Given the description of an element on the screen output the (x, y) to click on. 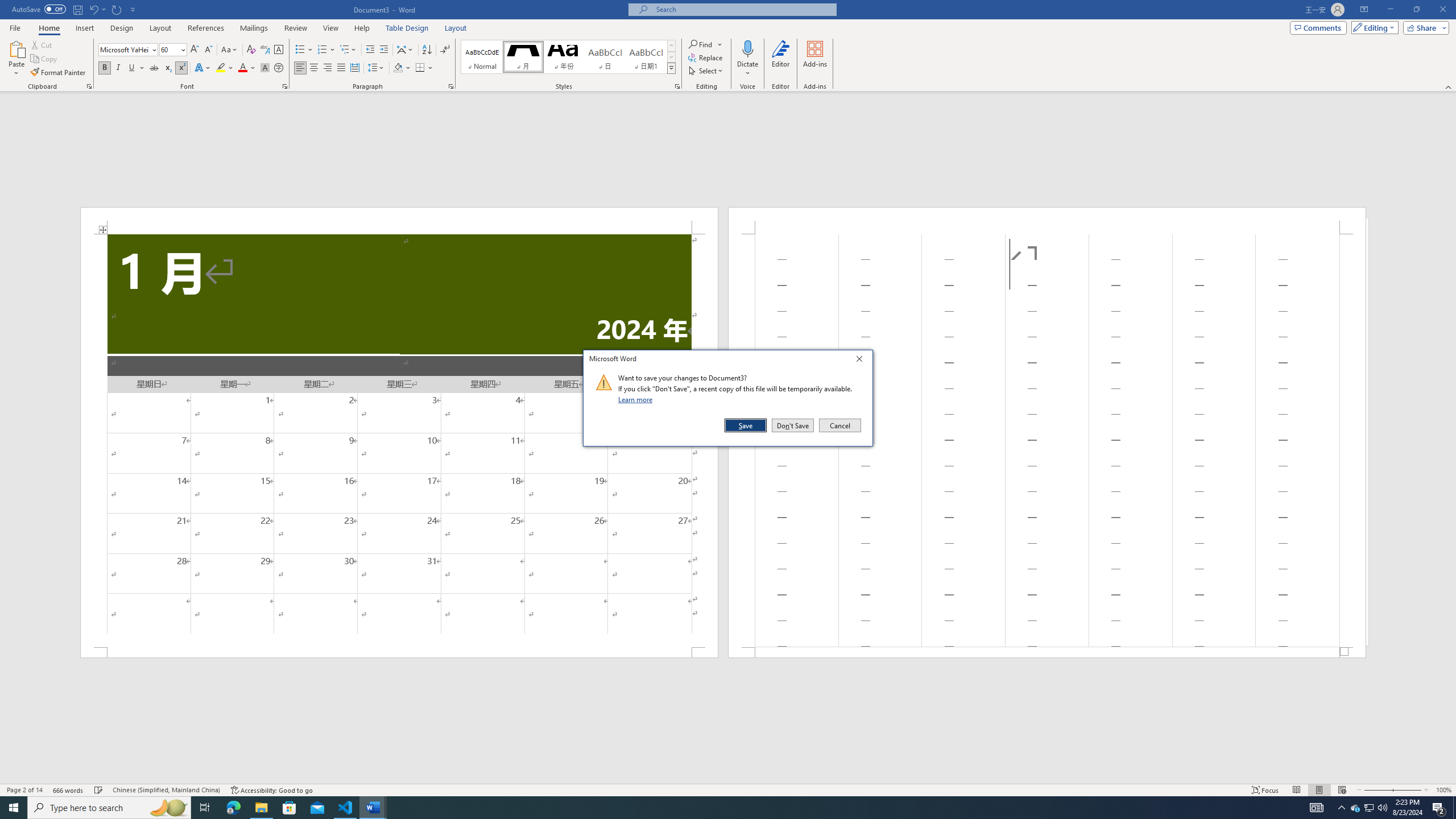
Q2790: 100% (1382, 807)
Justify (340, 67)
Microsoft Edge (233, 807)
Align Right (327, 67)
Repeat Superscript (117, 9)
Font Color (246, 67)
